Given the description of an element on the screen output the (x, y) to click on. 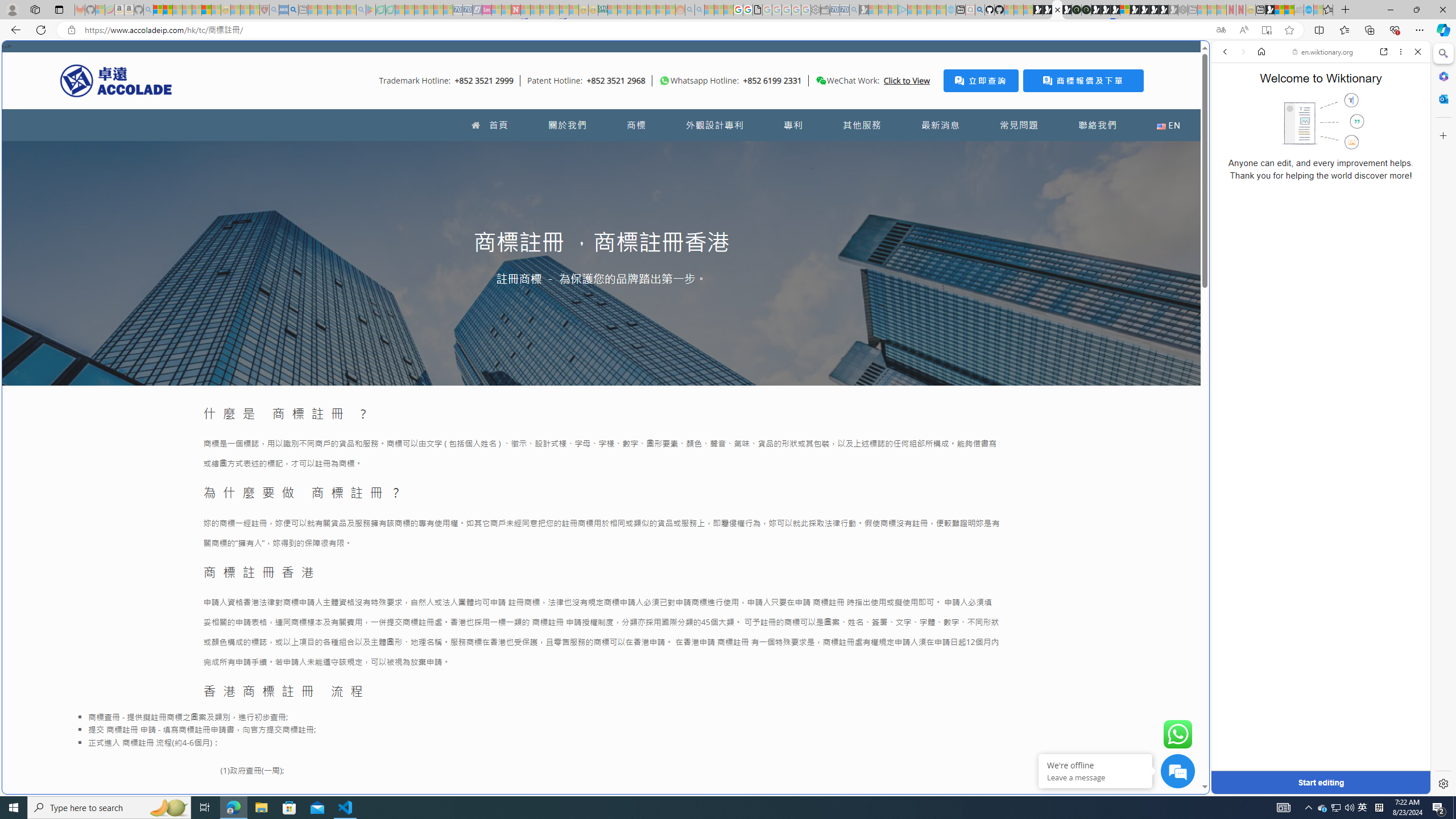
Search Filter, WEB (1230, 129)
Play Zoo Boom in your browser | Games from Microsoft Start (1047, 9)
Play Cave FRVR in your browser | Games from Microsoft Start (1105, 9)
Earth has six continents not seven, radical new study claims (1288, 9)
Latest Politics News & Archive | Newsweek.com - Sleeping (515, 9)
Frequently visited (965, 151)
Show translate options (1220, 29)
google_privacy_policy_zh-CN.pdf (757, 9)
